Given the description of an element on the screen output the (x, y) to click on. 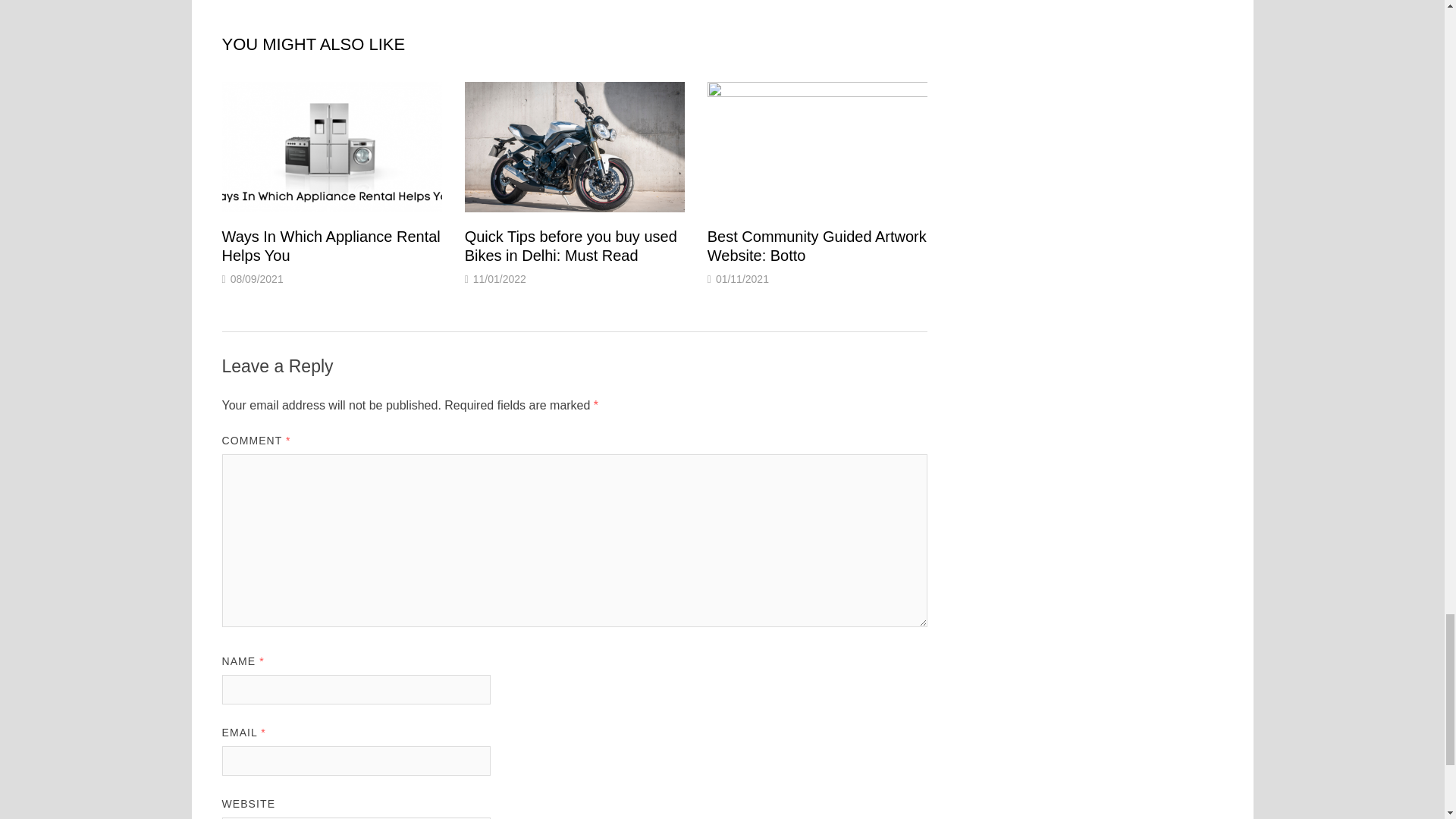
Ways In Which Appliance Rental Helps You (330, 245)
Ways In Which Appliance Rental Helps You (330, 245)
